Given the description of an element on the screen output the (x, y) to click on. 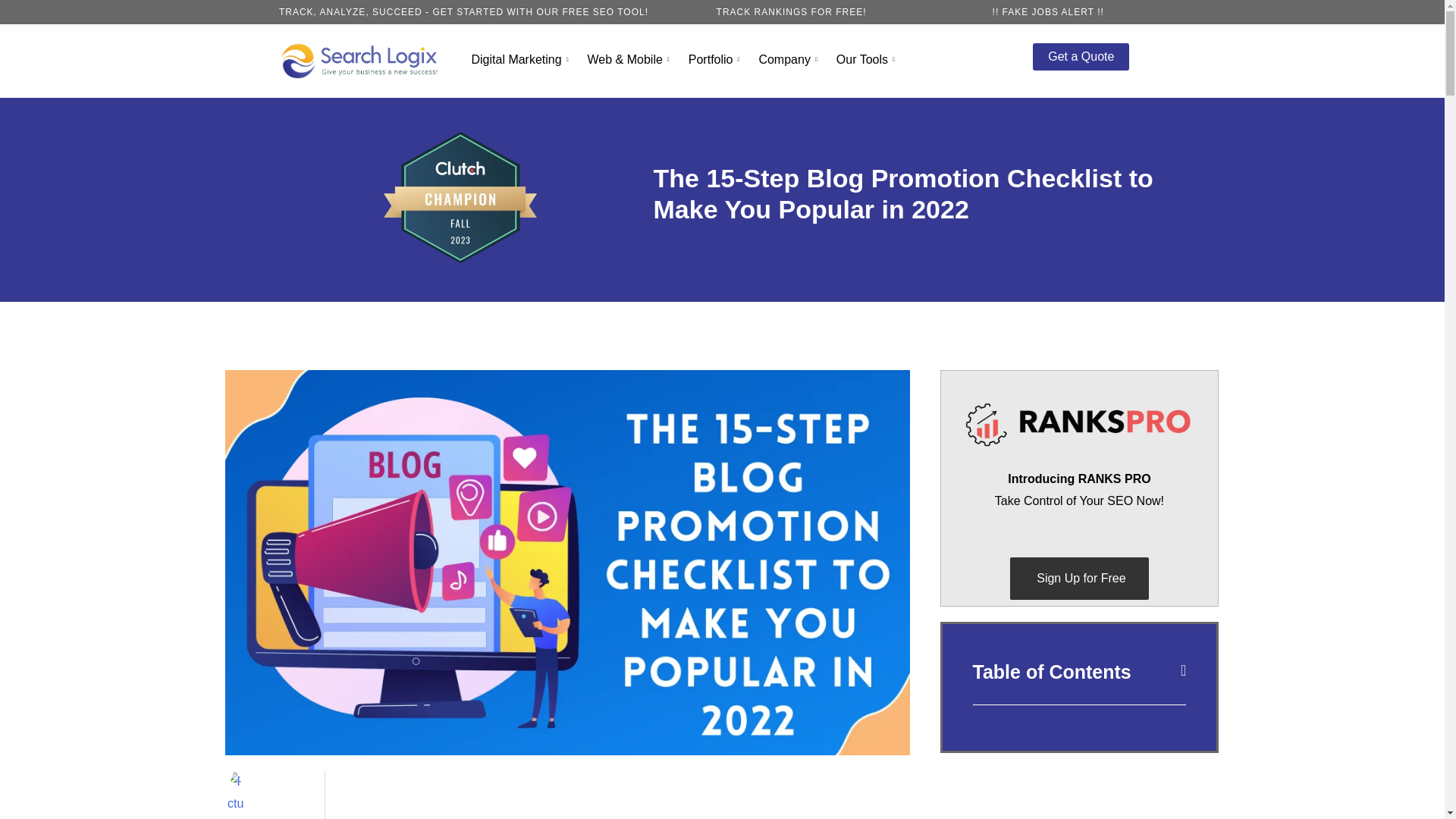
TRACK RANKINGS FOR FREE! (791, 11)
Digital Marketing (521, 59)
!! FAKE JOBS ALERT !! (1047, 11)
